Given the description of an element on the screen output the (x, y) to click on. 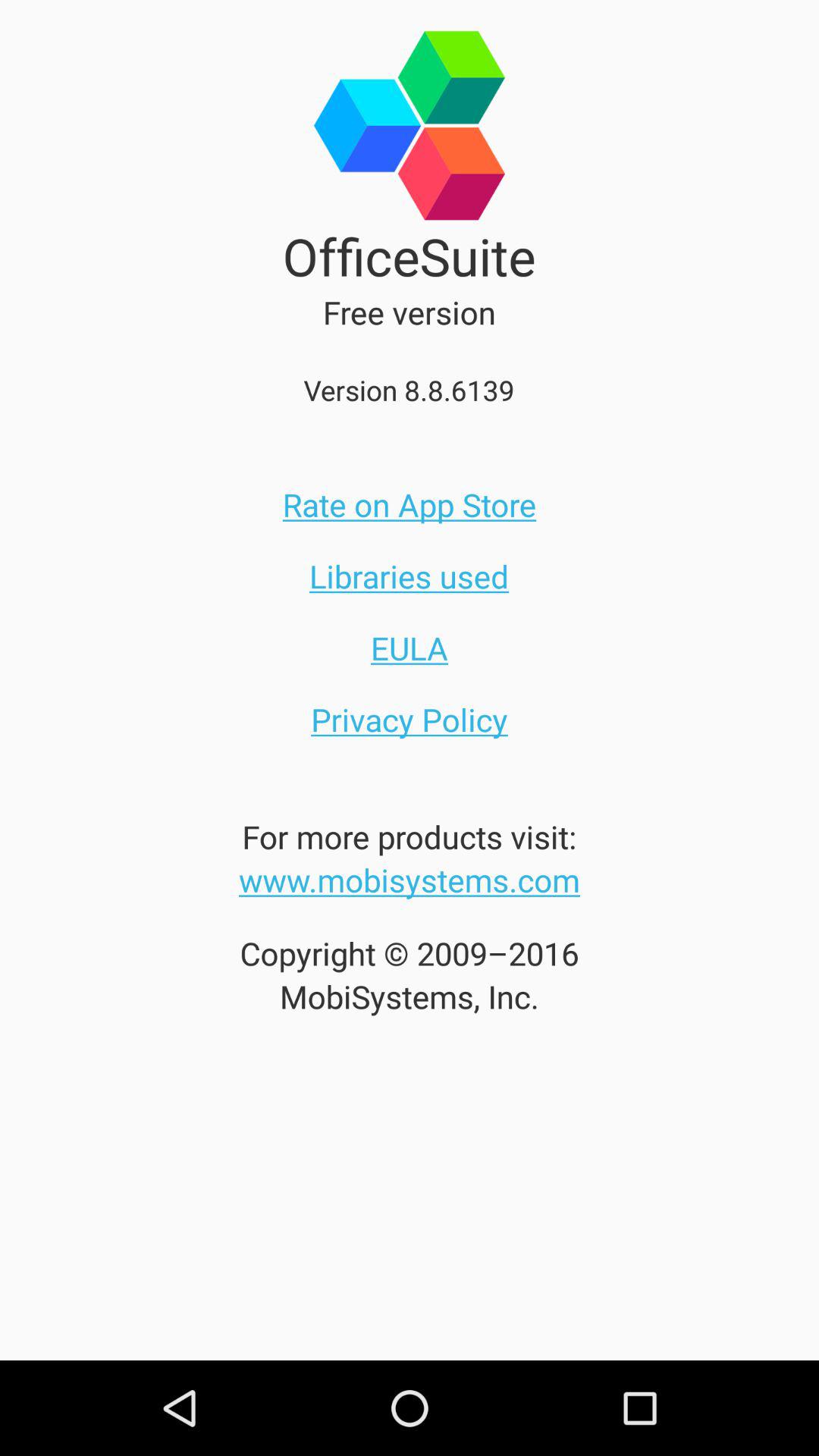
tap icon below the eula (409, 719)
